Given the description of an element on the screen output the (x, y) to click on. 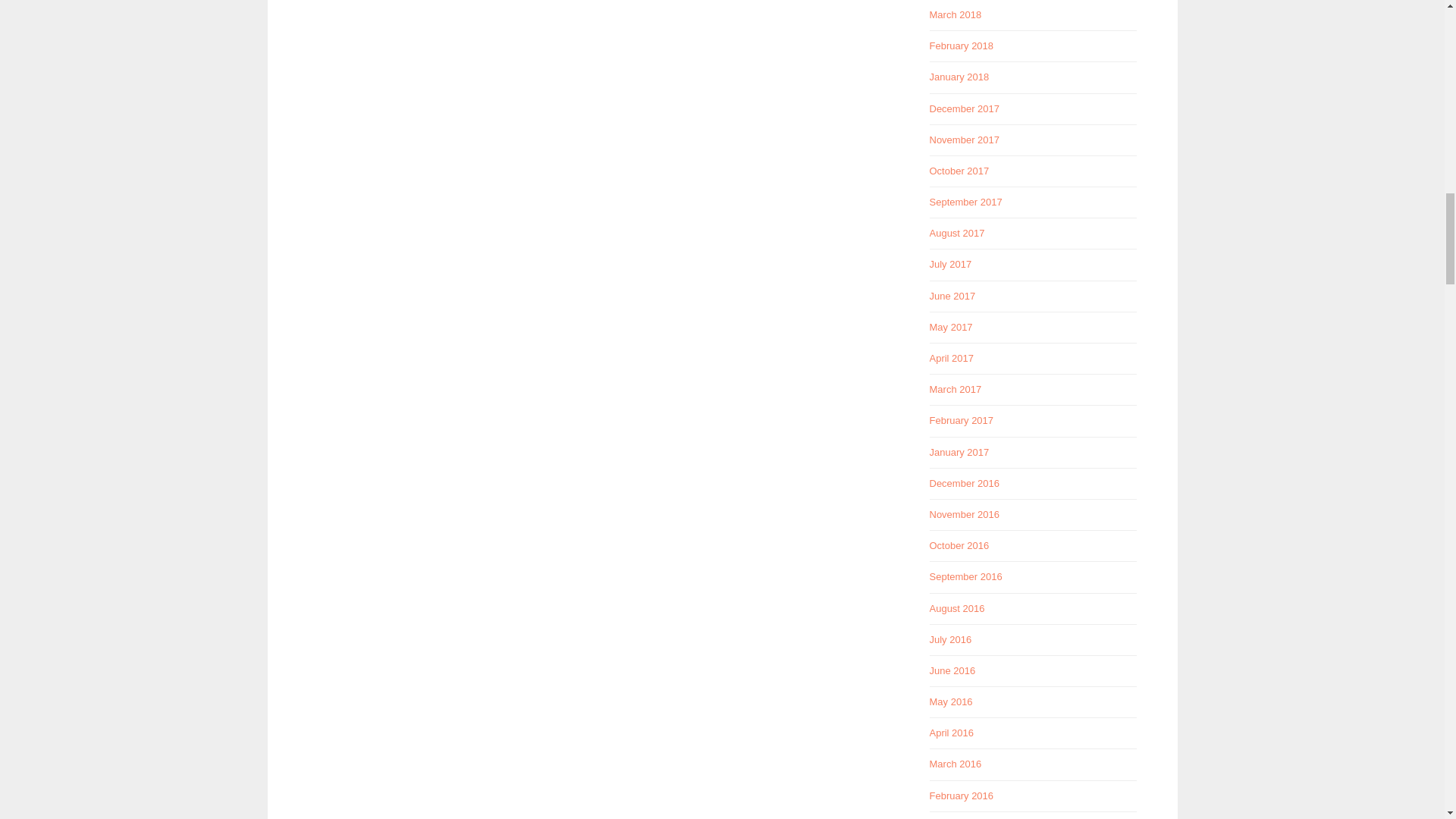
Comment Form (596, 112)
